Given the description of an element on the screen output the (x, y) to click on. 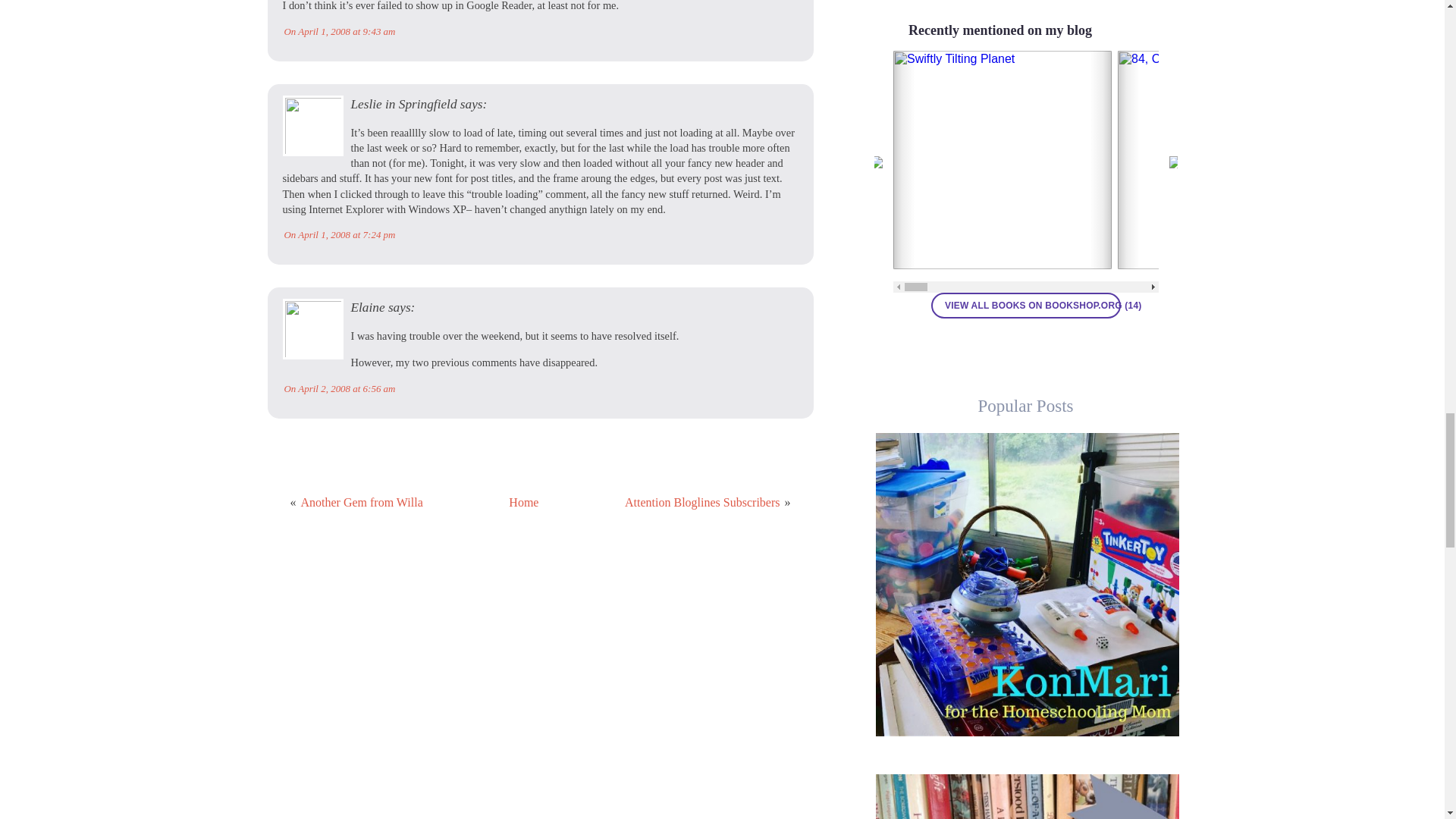
On April 1, 2008 at 9:43 am (339, 30)
On April 1, 2008 at 7:24 pm (339, 234)
